Given the description of an element on the screen output the (x, y) to click on. 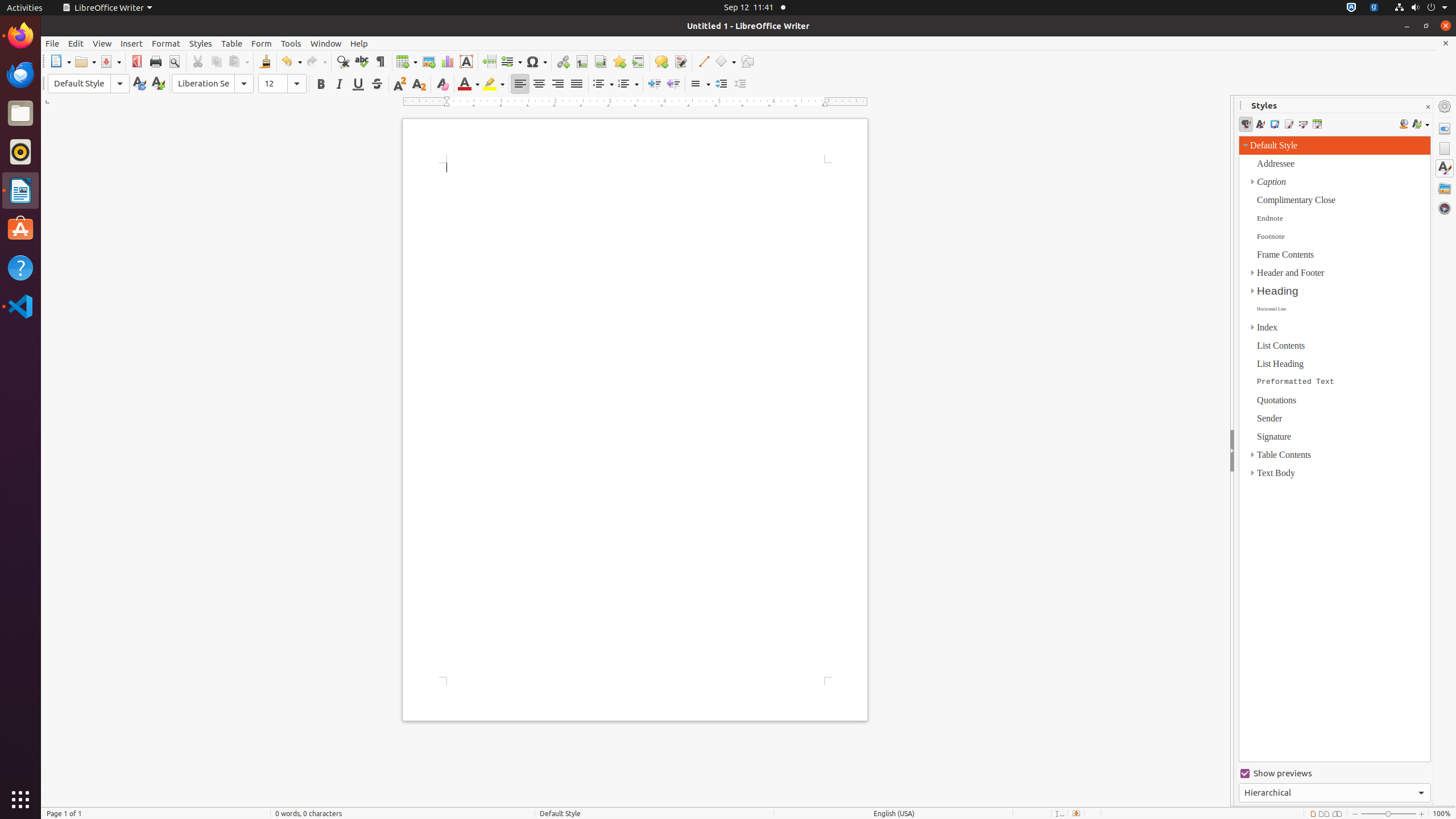
File Element type: menu (51, 43)
LibreOffice Writer Element type: push-button (20, 190)
Justified Element type: toggle-button (576, 83)
Draw Functions Element type: push-button (746, 61)
Bullets Element type: push-button (602, 83)
